Given the description of an element on the screen output the (x, y) to click on. 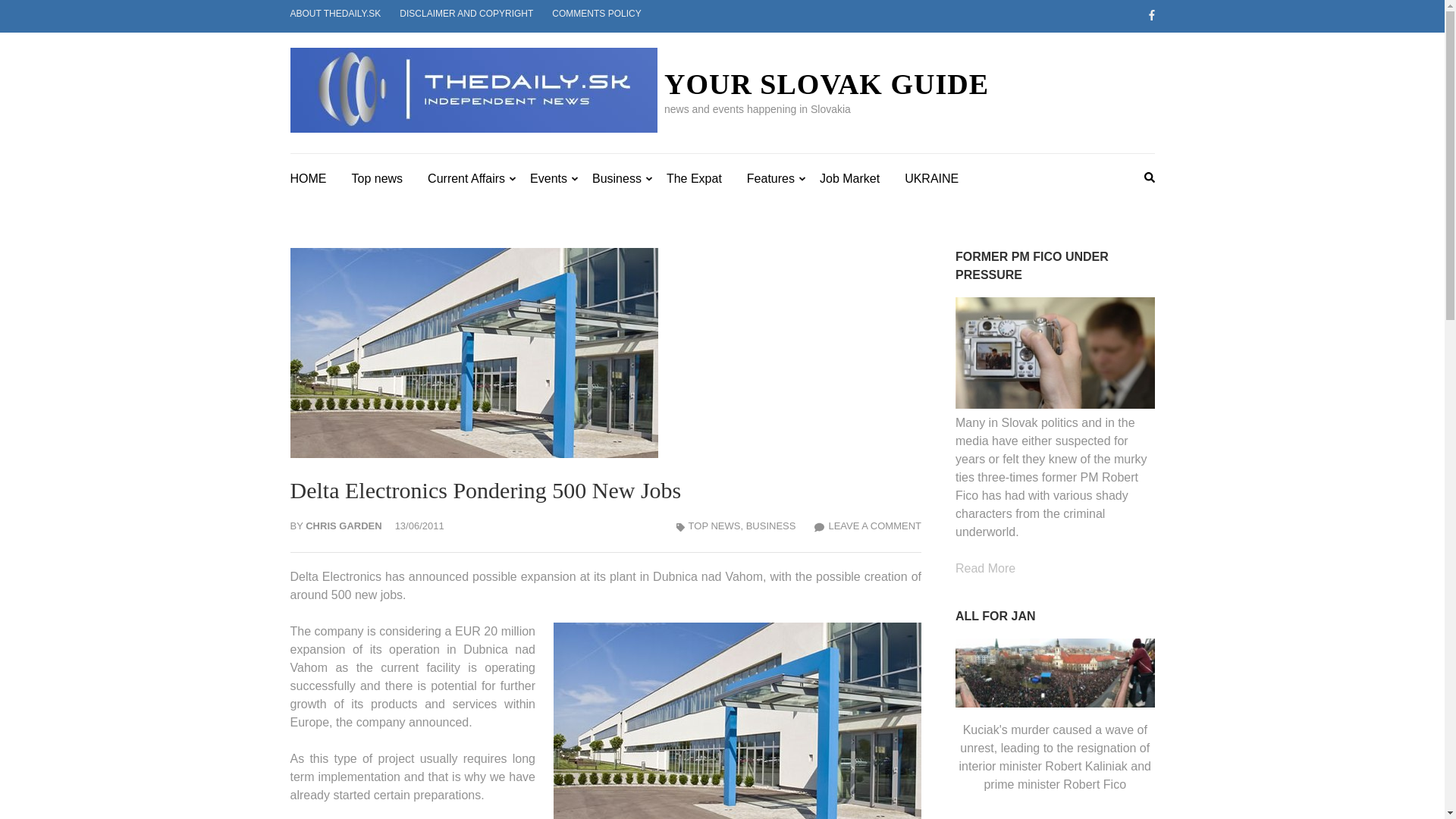
DISCLAIMER AND COPYRIGHT (465, 13)
delta-electronics-Dubnica (737, 720)
ABOUT THEDAILY.SK (334, 13)
Business (617, 176)
YOUR SLOVAK GUIDE (825, 83)
COMMENTS POLICY (595, 13)
Top news (377, 176)
Current Affairs (466, 176)
